Given the description of an element on the screen output the (x, y) to click on. 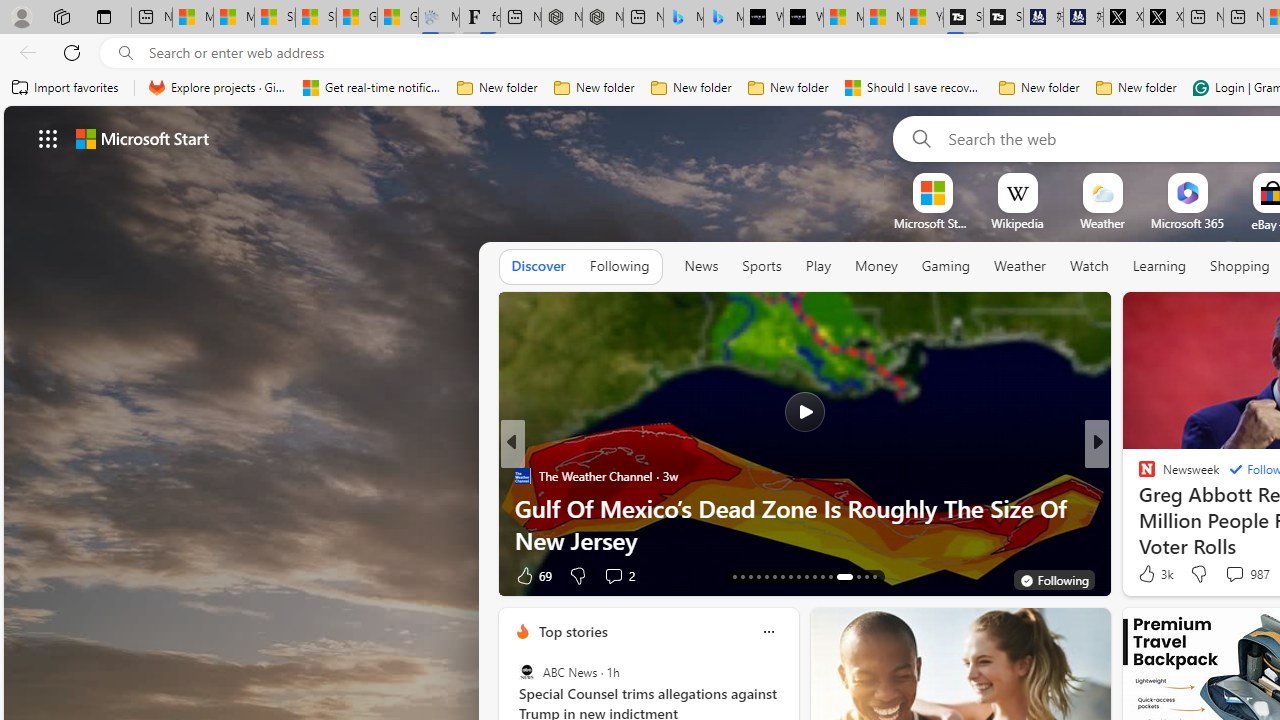
AutomationID: tab-18 (774, 576)
AutomationID: tab-20 (789, 576)
You're following The Weather Channel (1053, 579)
View comments 2 Comment (618, 574)
Import favorites (65, 88)
Shopping (1240, 265)
AutomationID: tab-21 (797, 576)
Gilma and Hector both pose tropical trouble for Hawaii (397, 17)
The Weather Channel (522, 475)
AutomationID: tab-16 (757, 576)
79 Like (1149, 574)
